Given the description of an element on the screen output the (x, y) to click on. 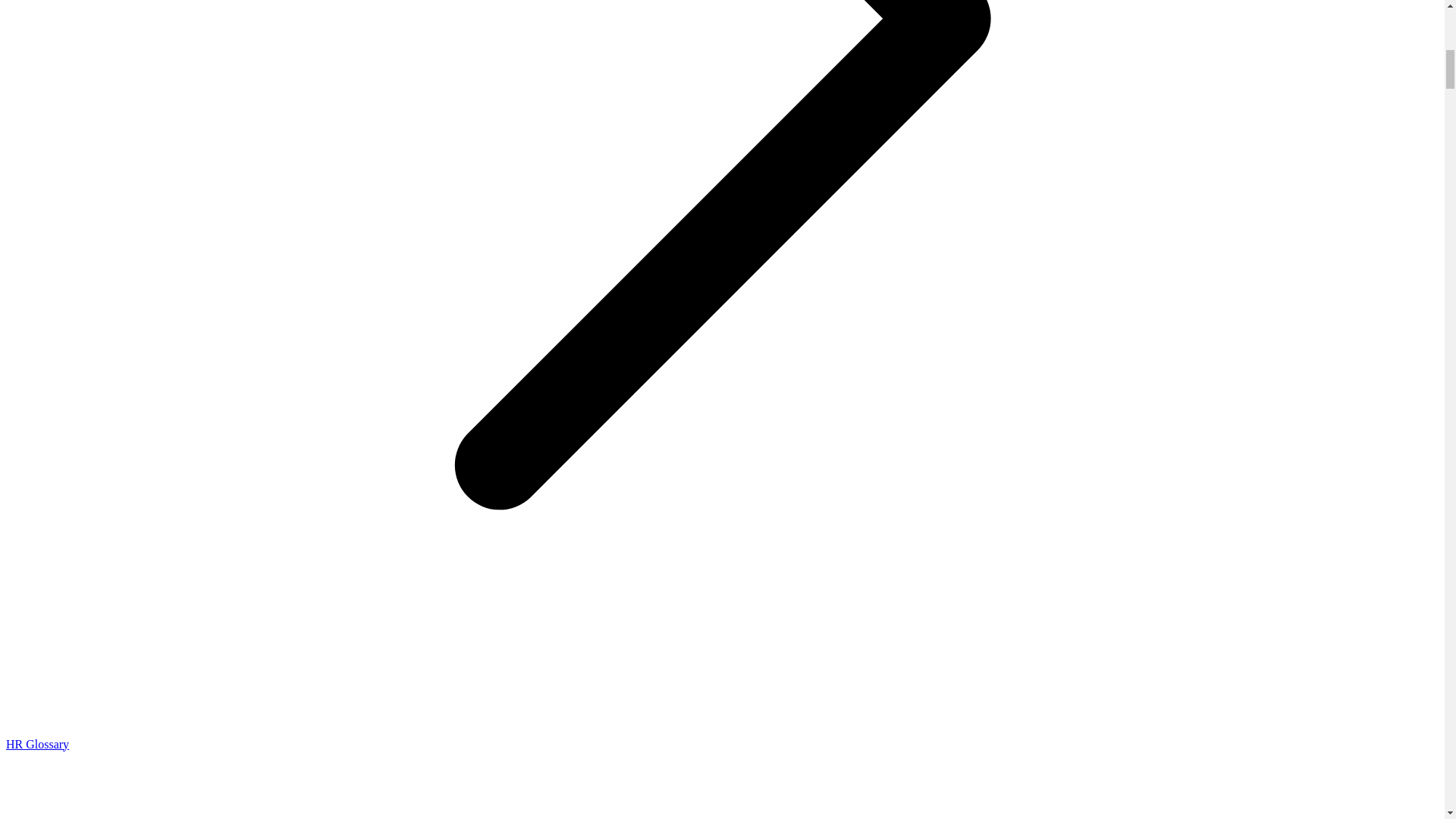
HR Glossary (36, 744)
